Given the description of an element on the screen output the (x, y) to click on. 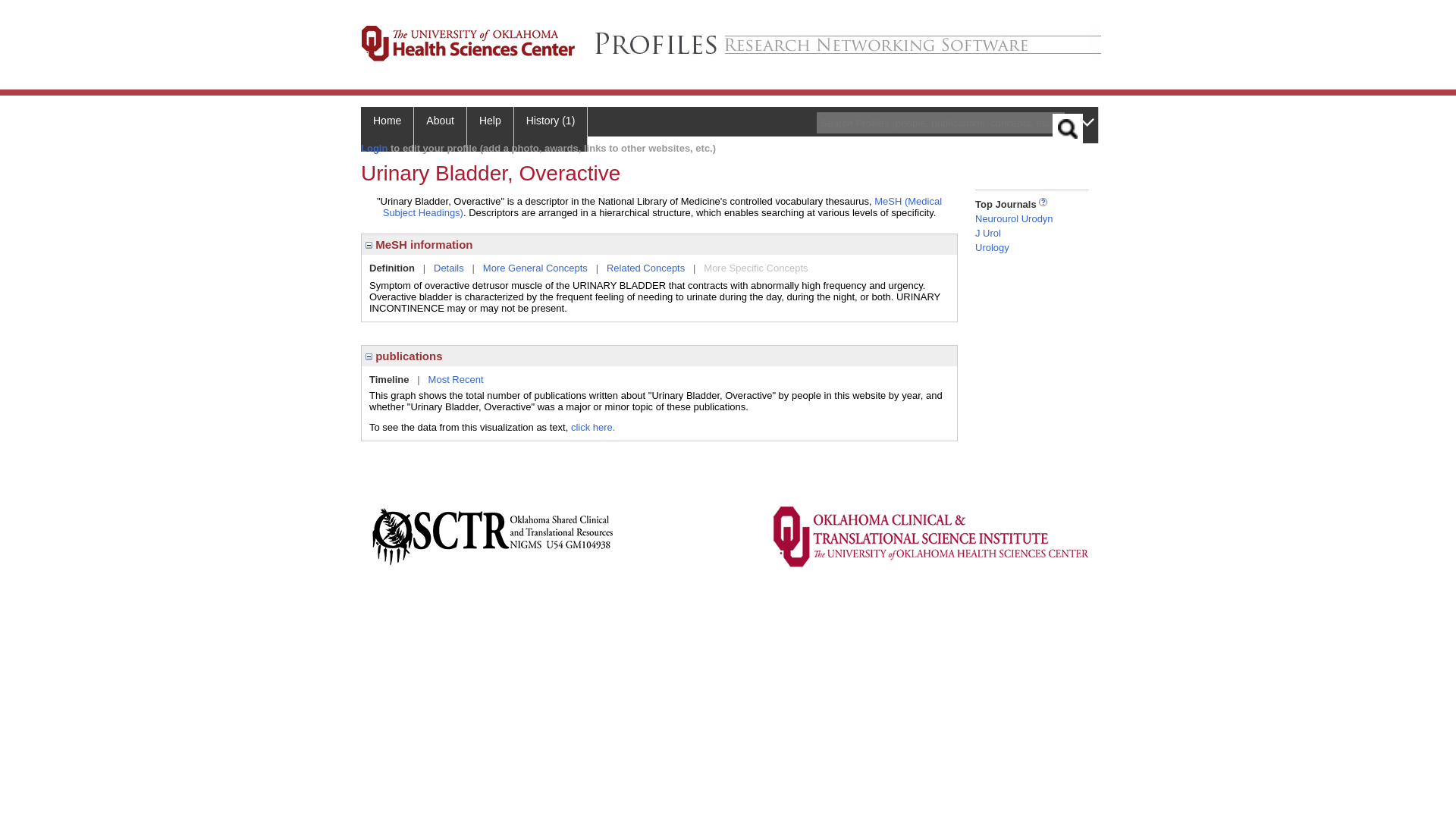
Details (448, 267)
Login (374, 147)
Home (387, 129)
Related Concepts (645, 267)
More General Concepts (535, 267)
More Specific Concepts (755, 267)
About (440, 129)
Definition (391, 267)
Help (490, 129)
